Given the description of an element on the screen output the (x, y) to click on. 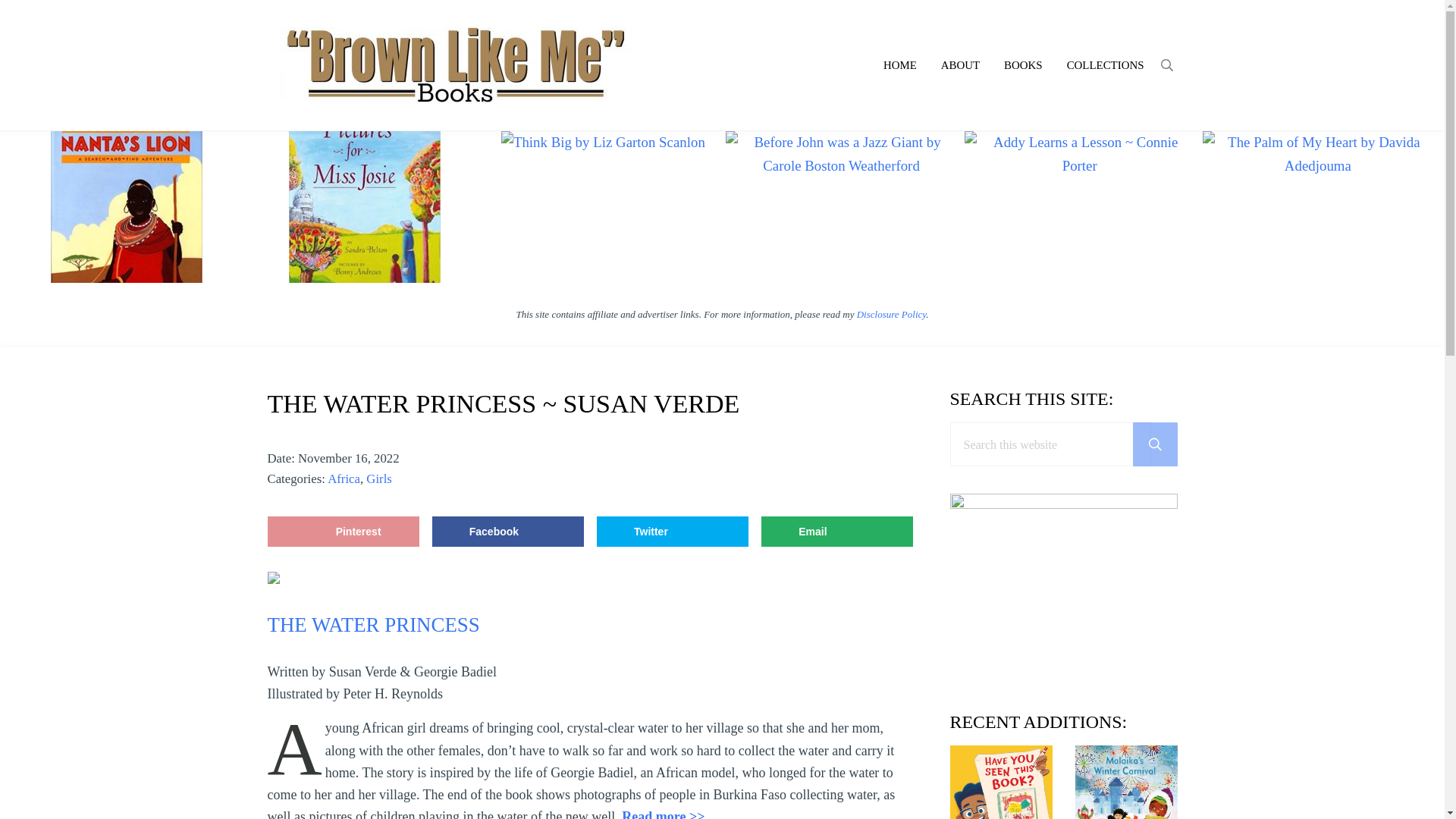
ABOUT (959, 64)
Share on Twitter (672, 531)
Pinterest (342, 531)
Girls (378, 478)
THE WATER PRINCESS (372, 624)
Share on Facebook (507, 531)
Africa (343, 478)
Twitter (672, 531)
Email (836, 531)
COLLECTIONS (1105, 64)
HOME (899, 64)
Send over email (836, 531)
Disclosure Policy (891, 314)
Facebook (507, 531)
